Given the description of an element on the screen output the (x, y) to click on. 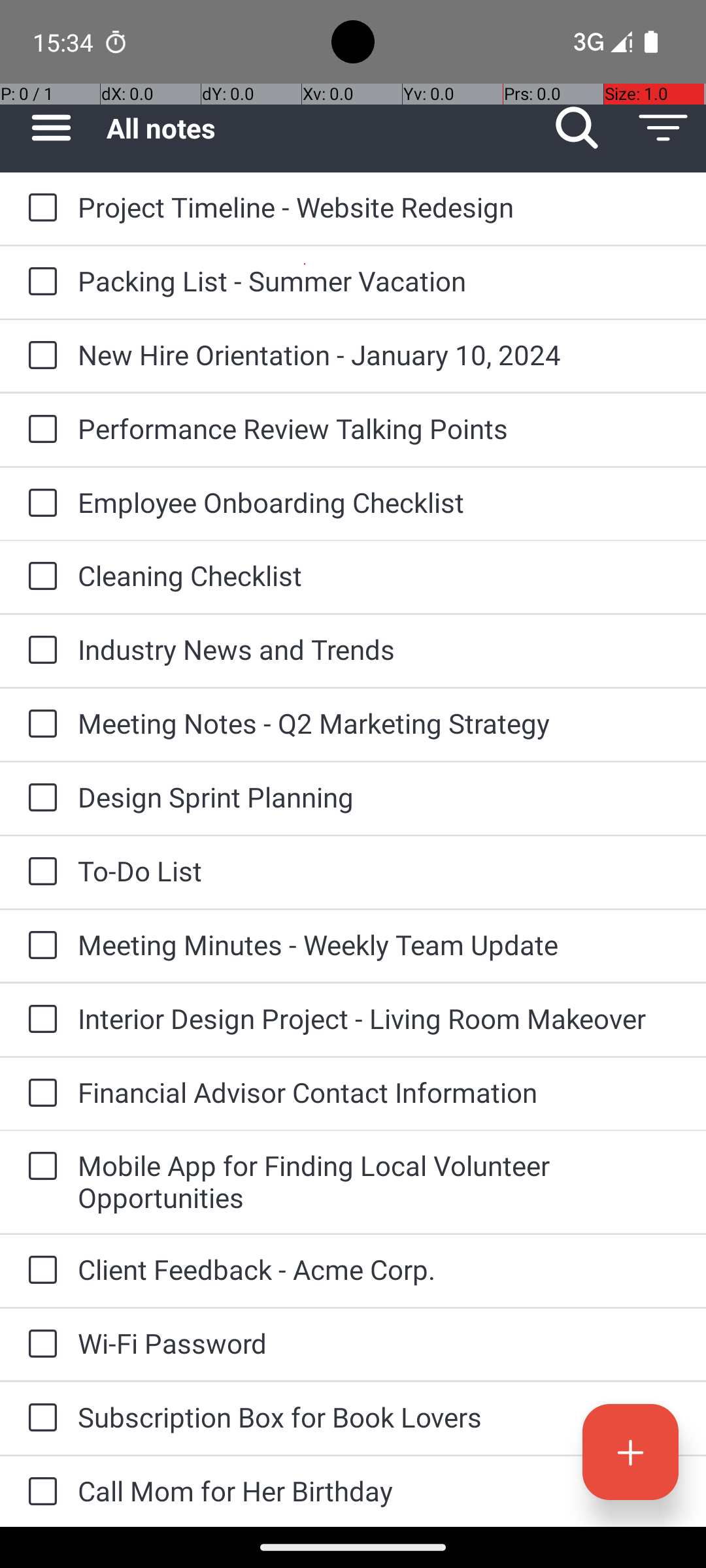
to-do: Project Timeline - Website Redesign Element type: android.widget.CheckBox (38, 208)
Project Timeline - Website Redesign Element type: android.widget.TextView (378, 206)
to-do: Packing List - Summer Vacation Element type: android.widget.CheckBox (38, 282)
Packing List - Summer Vacation Element type: android.widget.TextView (378, 280)
to-do: New Hire Orientation - January 10, 2024 Element type: android.widget.CheckBox (38, 356)
New Hire Orientation - January 10, 2024 Element type: android.widget.TextView (378, 354)
to-do: Performance Review Talking Points Element type: android.widget.CheckBox (38, 429)
Performance Review Talking Points Element type: android.widget.TextView (378, 427)
to-do: Employee Onboarding Checklist Element type: android.widget.CheckBox (38, 503)
Employee Onboarding Checklist Element type: android.widget.TextView (378, 501)
to-do: Cleaning Checklist Element type: android.widget.CheckBox (38, 576)
Cleaning Checklist Element type: android.widget.TextView (378, 574)
to-do: Industry News and Trends Element type: android.widget.CheckBox (38, 650)
Industry News and Trends Element type: android.widget.TextView (378, 648)
to-do: Meeting Notes - Q2 Marketing Strategy Element type: android.widget.CheckBox (38, 724)
Meeting Notes - Q2 Marketing Strategy Element type: android.widget.TextView (378, 722)
to-do: Design Sprint Planning Element type: android.widget.CheckBox (38, 798)
Design Sprint Planning Element type: android.widget.TextView (378, 796)
to-do: To-Do List Element type: android.widget.CheckBox (38, 872)
To-Do List Element type: android.widget.TextView (378, 870)
to-do: Meeting Minutes - Weekly Team Update Element type: android.widget.CheckBox (38, 945)
Meeting Minutes - Weekly Team Update Element type: android.widget.TextView (378, 944)
to-do: Interior Design Project - Living Room Makeover Element type: android.widget.CheckBox (38, 1019)
Interior Design Project - Living Room Makeover Element type: android.widget.TextView (378, 1017)
to-do: Mobile App for Finding Local Volunteer Opportunities Element type: android.widget.CheckBox (38, 1166)
Mobile App for Finding Local Volunteer Opportunities Element type: android.widget.TextView (378, 1180)
to-do: Client Feedback - Acme Corp. Element type: android.widget.CheckBox (38, 1270)
Client Feedback - Acme Corp. Element type: android.widget.TextView (378, 1268)
to-do: Wi-Fi Password Element type: android.widget.CheckBox (38, 1344)
Wi-Fi Password Element type: android.widget.TextView (378, 1342)
to-do: Subscription Box for Book Lovers Element type: android.widget.CheckBox (38, 1418)
Subscription Box for Book Lovers Element type: android.widget.TextView (378, 1416)
to-do: Call Mom for Her Birthday Element type: android.widget.CheckBox (38, 1491)
Call Mom for Her Birthday Element type: android.widget.TextView (378, 1490)
